Given the description of an element on the screen output the (x, y) to click on. 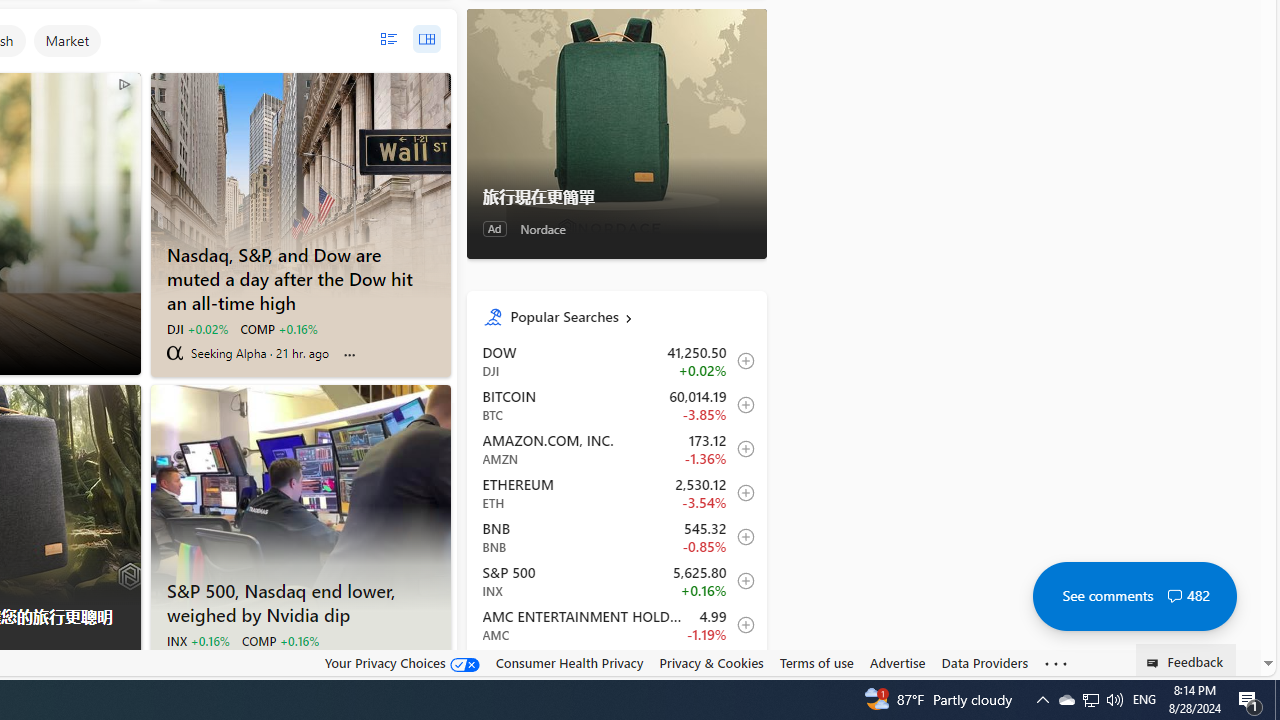
Your Privacy Choices (401, 662)
Class: notInWatclistIcon-DS-EntryPoint1-6 lightTheme (740, 668)
DJI DOW increase 41,250.50 +9.98 +0.02% itemundefined (615, 361)
ETH Ethereum decrease 2,530.12 -89.57 -3.54% itemundefined (615, 492)
Consumer Health Privacy (569, 662)
Privacy & Cookies (711, 662)
Terms of use (816, 663)
Privacy & Cookies (711, 663)
Seeking Alpha (174, 352)
Class: cwt-icon-vector (1174, 596)
Popular Searches (630, 316)
BNB BNB decrease 545.32 -4.62 -0.85% itemundefined (615, 536)
AdChoices (123, 668)
